Given the description of an element on the screen output the (x, y) to click on. 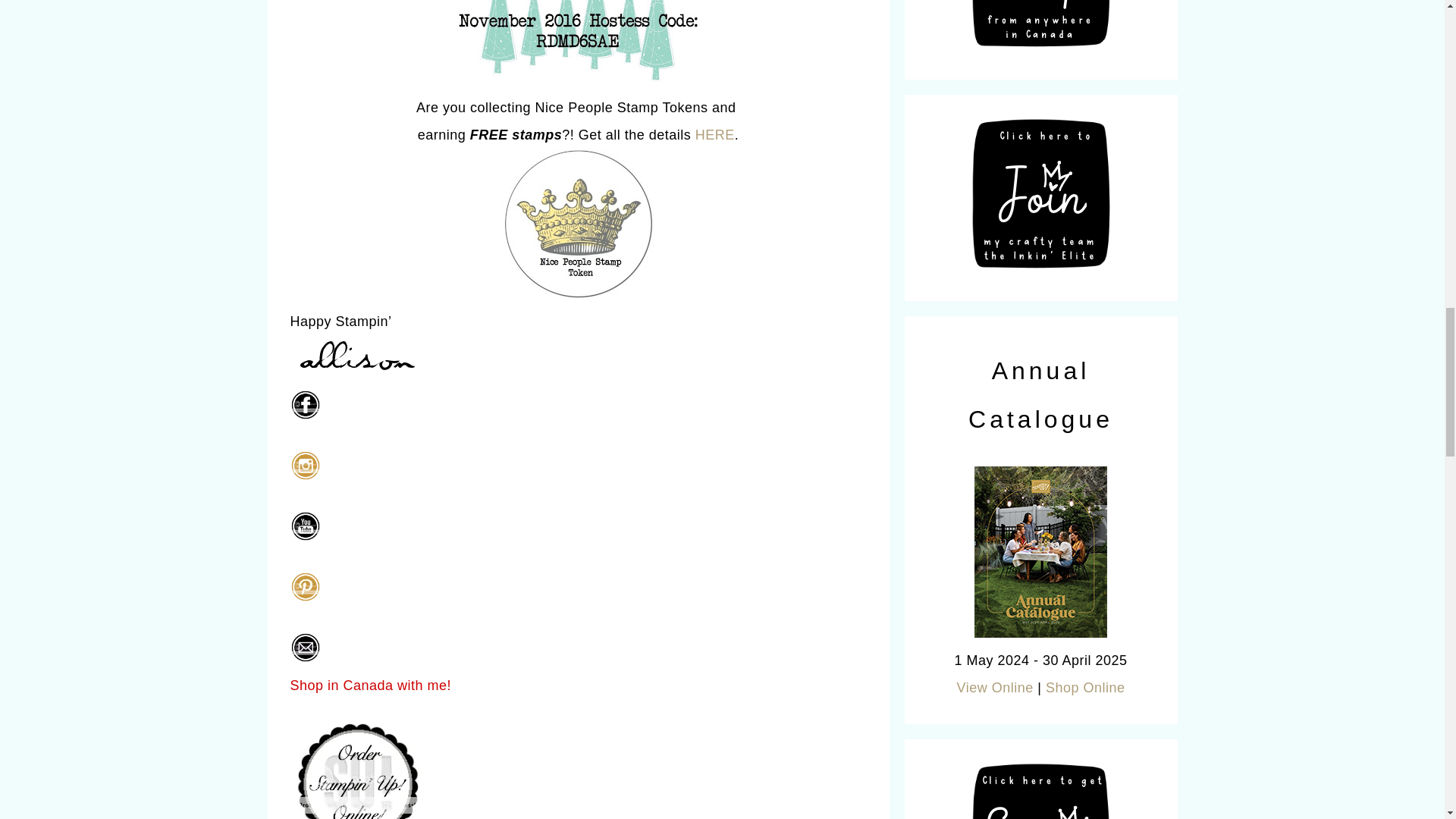
HERE (715, 134)
